Given the description of an element on the screen output the (x, y) to click on. 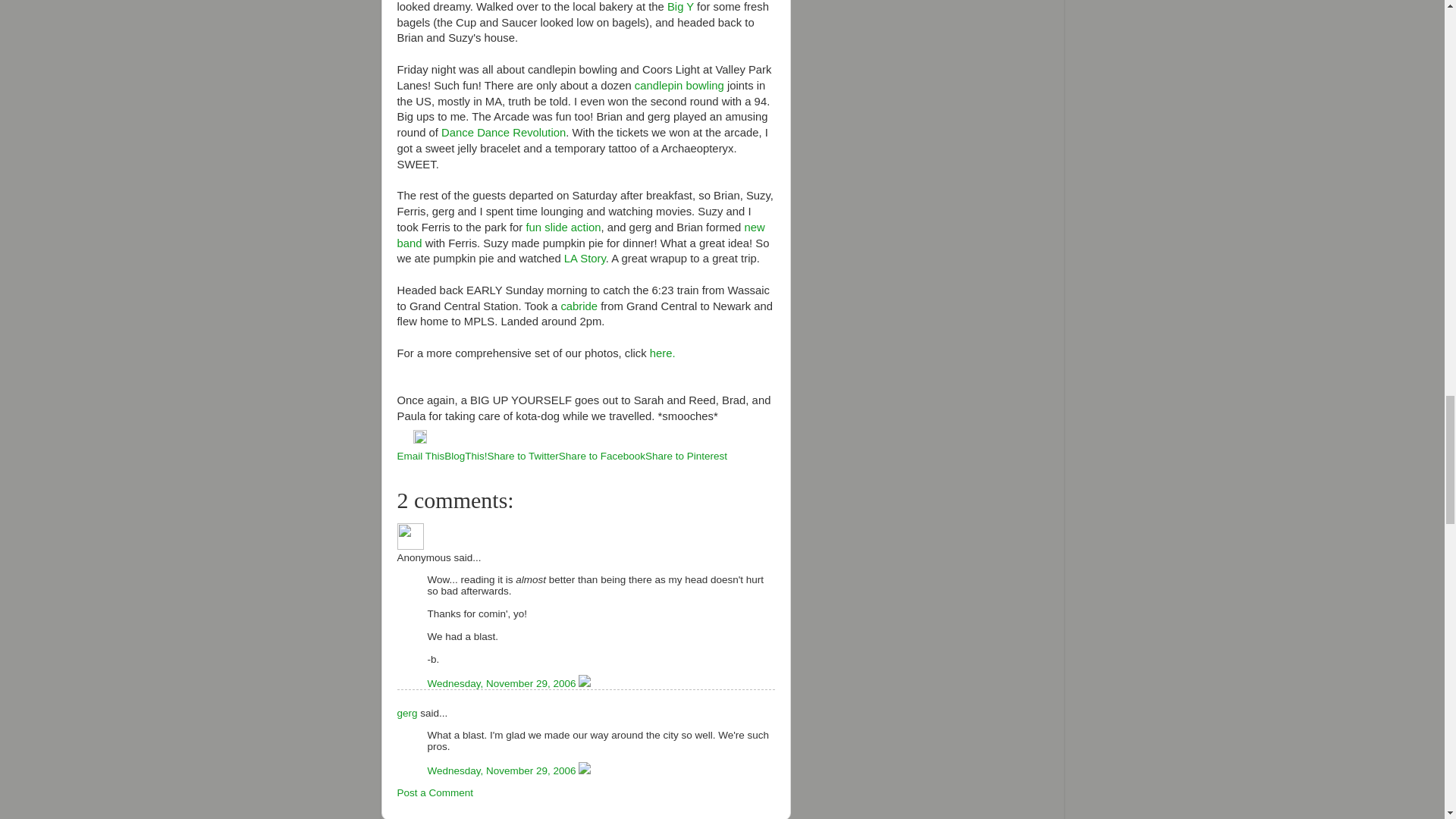
Email Post (405, 439)
comment permalink (503, 683)
Delete Comment (584, 770)
Share to Pinterest (685, 455)
Email This (421, 455)
Share to Facebook (602, 455)
Share to Twitter (523, 455)
Anonymous (410, 536)
Delete Comment (584, 683)
BlogThis! (465, 455)
comment permalink (503, 770)
Edit Post (419, 439)
